Given the description of an element on the screen output the (x, y) to click on. 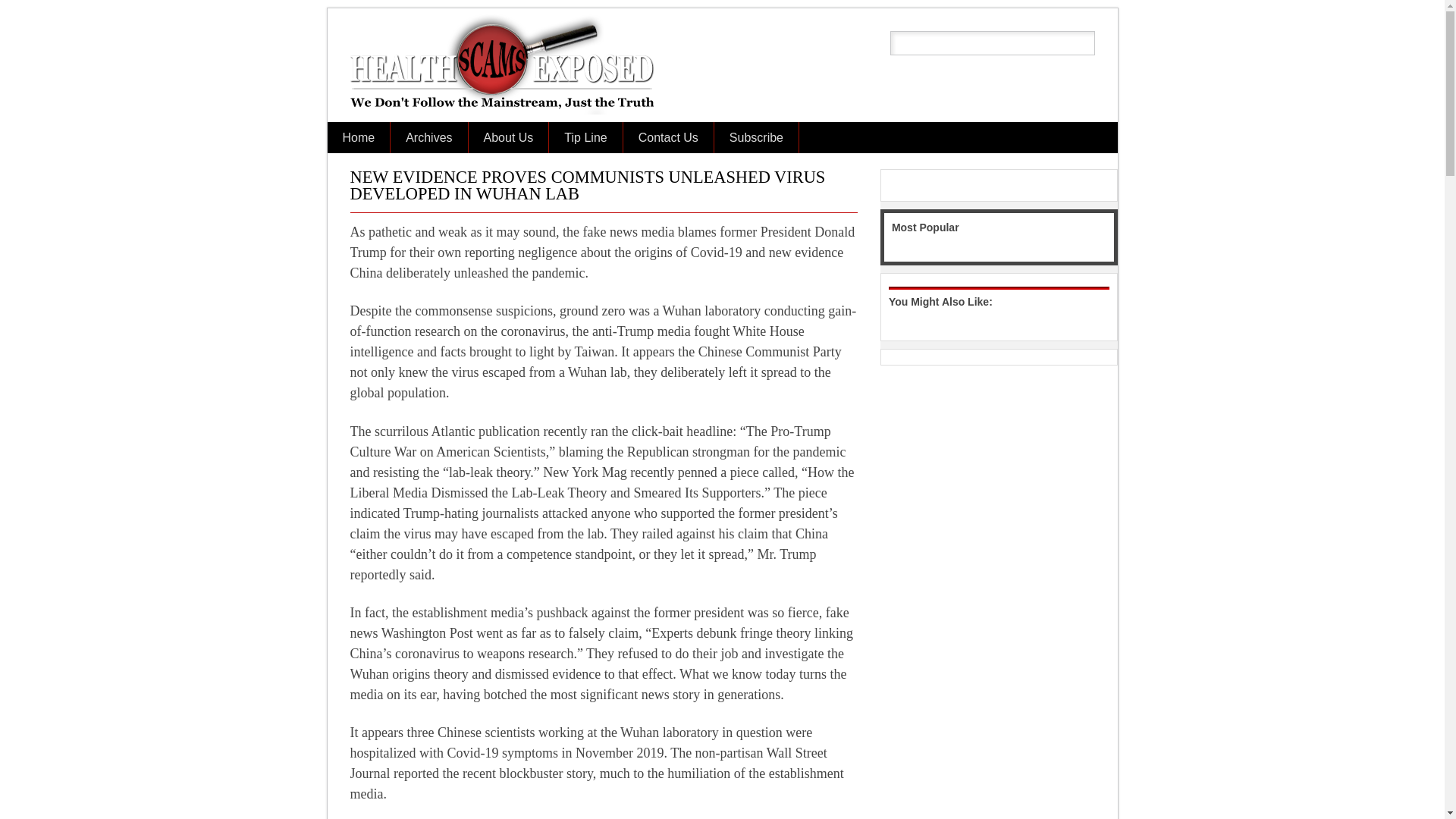
Search (22, 8)
About Us (508, 137)
Subscribe (755, 137)
Archives (428, 137)
Home (358, 137)
Contact Us (668, 137)
Tip Line (584, 137)
